Given the description of an element on the screen output the (x, y) to click on. 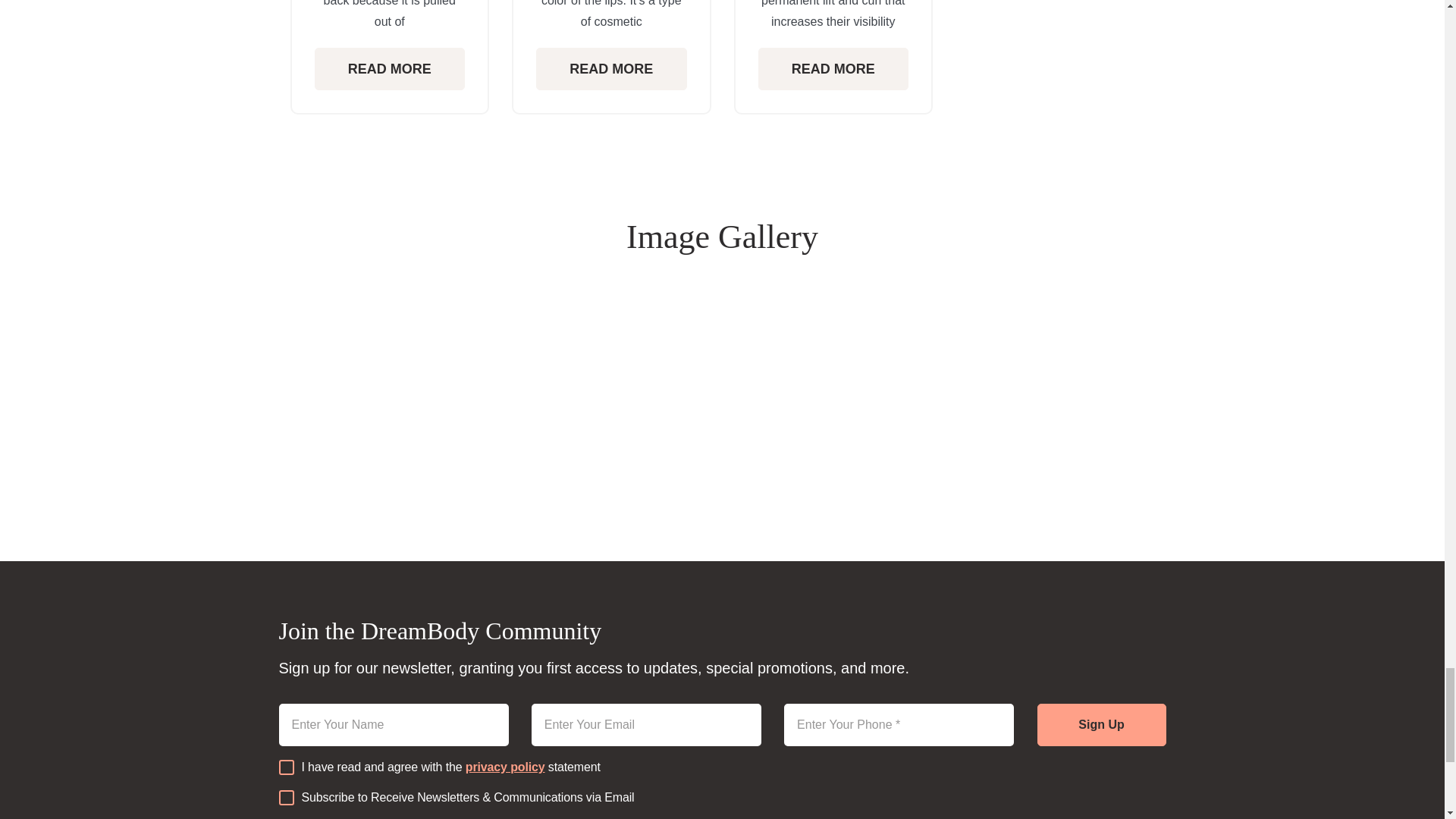
Sign up (1101, 724)
